Given the description of an element on the screen output the (x, y) to click on. 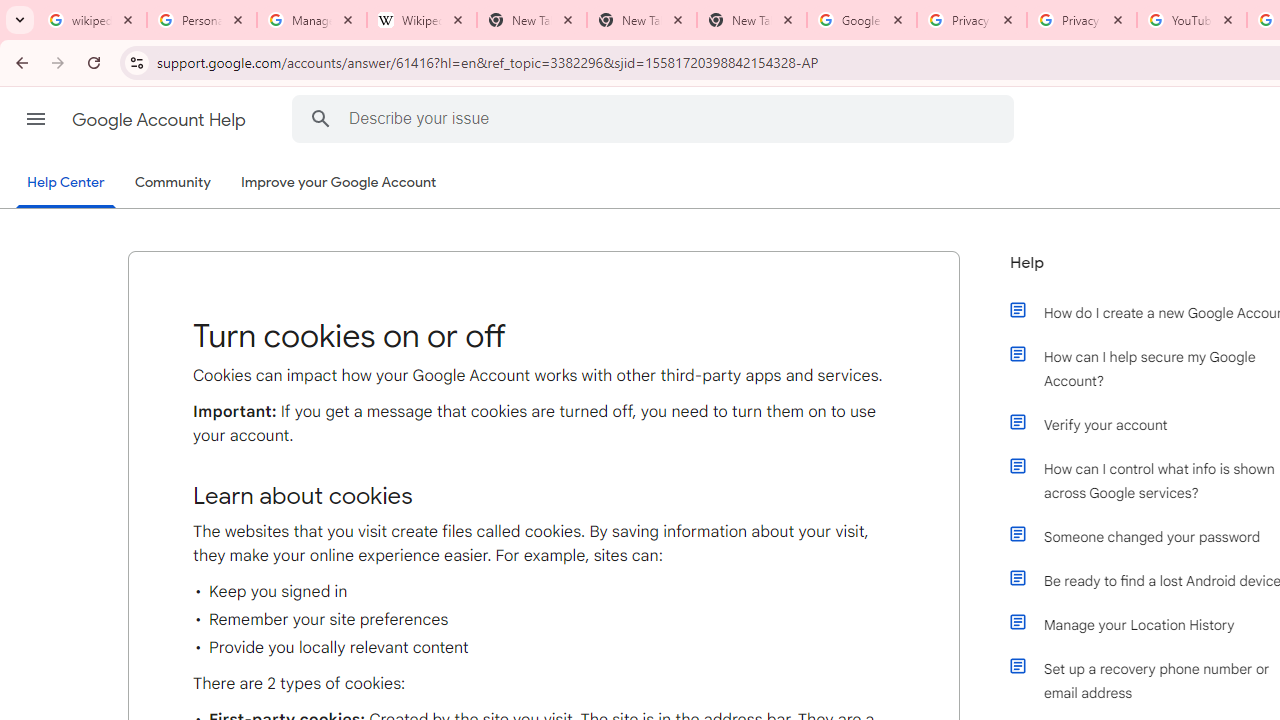
Personalization & Google Search results - Google Search Help (202, 20)
Describe your issue (655, 118)
YouTube (1191, 20)
Google Drive: Sign-in (861, 20)
Google Account Help (160, 119)
New Tab (752, 20)
